Given the description of an element on the screen output the (x, y) to click on. 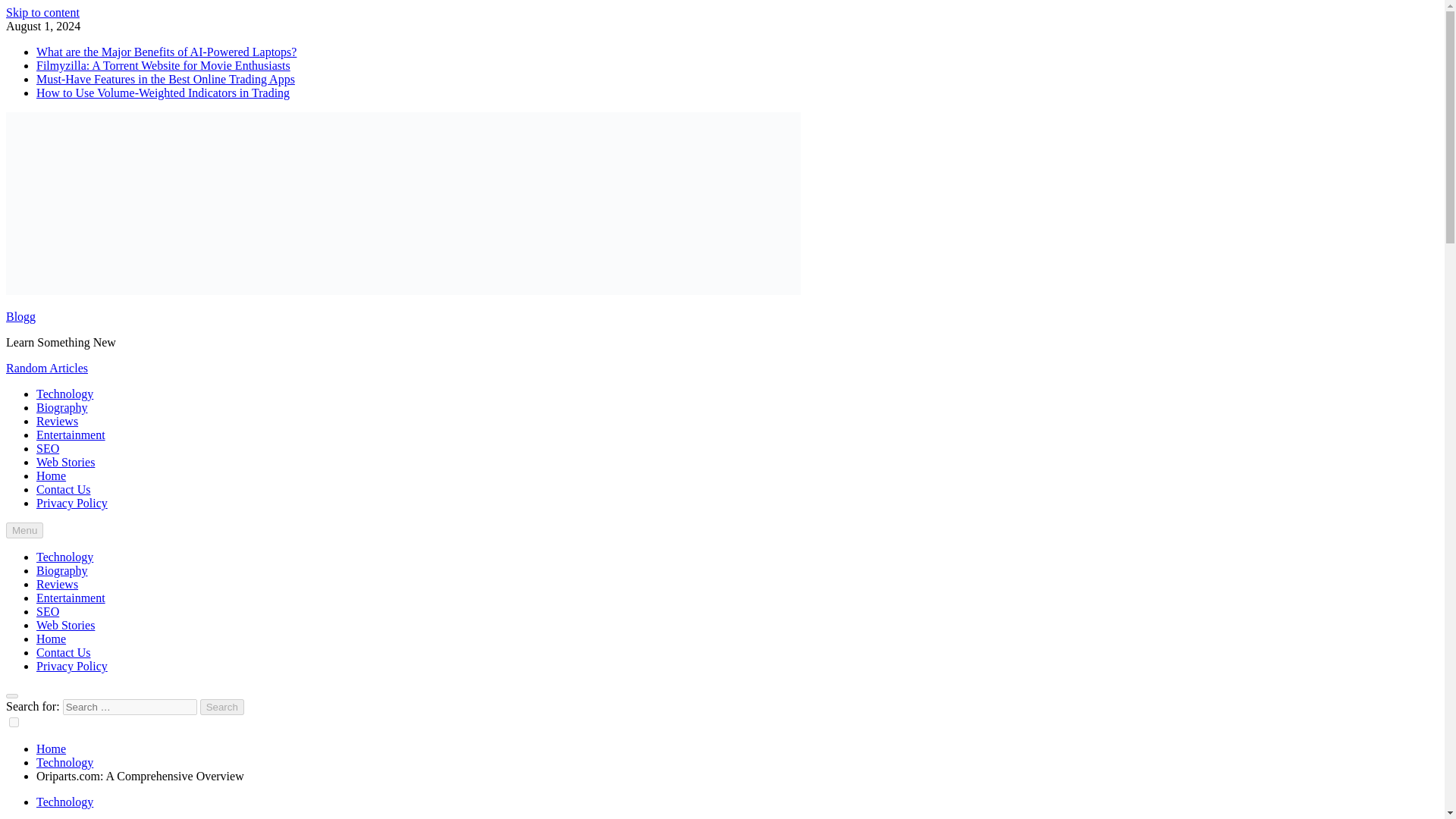
Menu (24, 530)
Skip to content (42, 11)
How to Use Volume-Weighted Indicators in Trading (162, 92)
Home (50, 748)
Entertainment (70, 597)
What are the Major Benefits of AI-Powered Laptops? (166, 51)
Technology (64, 393)
SEO (47, 611)
Biography (61, 570)
Web Stories (65, 461)
